Given the description of an element on the screen output the (x, y) to click on. 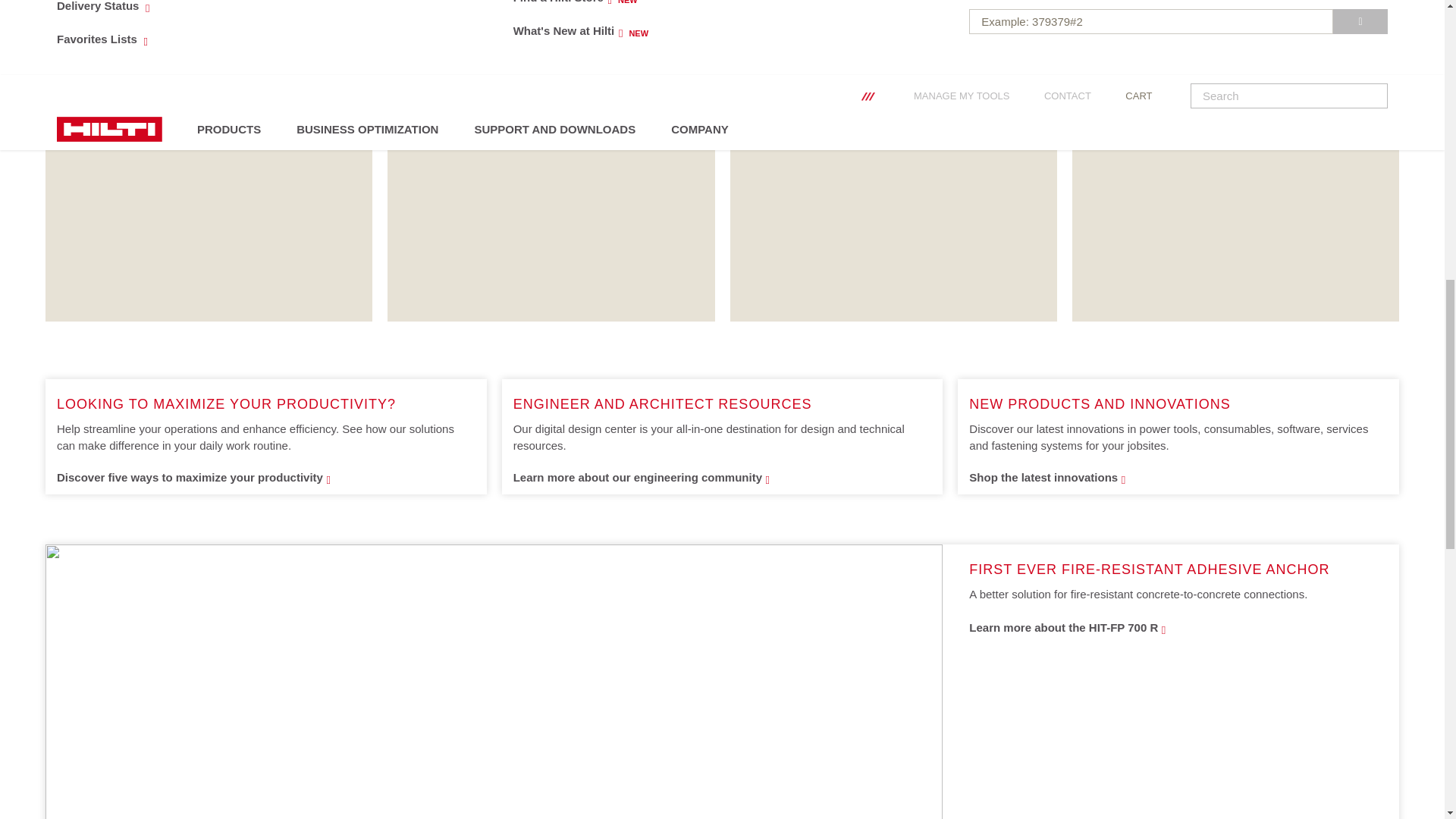
Learn more about our engineering community (722, 477)
Delivery Status (707, 30)
Favorites Lists (707, 7)
ADD TO CART (251, 11)
Discover five ways to maximize your productivity (251, 39)
Learn more about the HIT-FP 700 R (1360, 21)
Shop the latest innovations (266, 477)
